Given the description of an element on the screen output the (x, y) to click on. 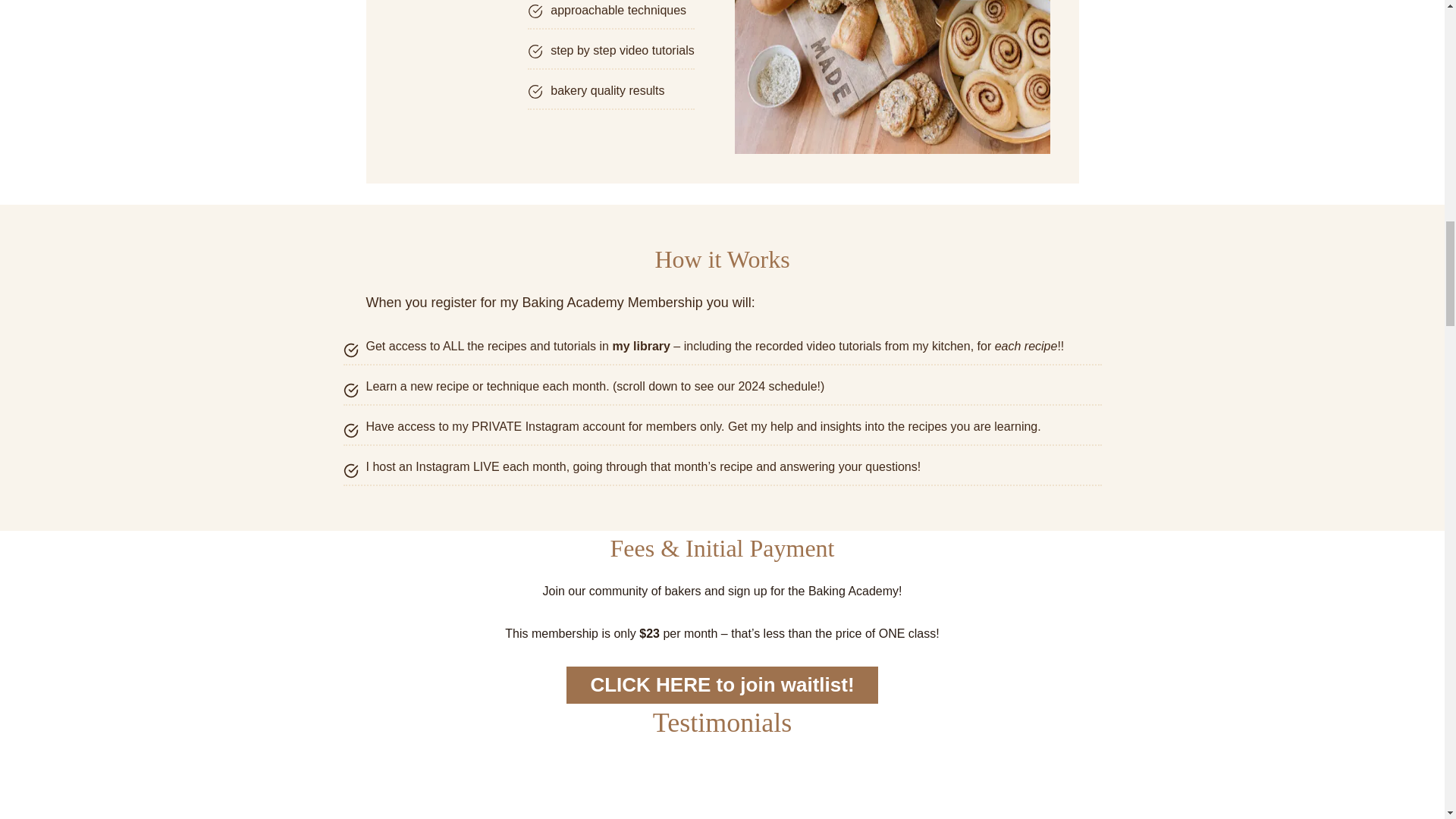
CLICK HERE to join waitlist! (721, 685)
my library (640, 345)
